Given the description of an element on the screen output the (x, y) to click on. 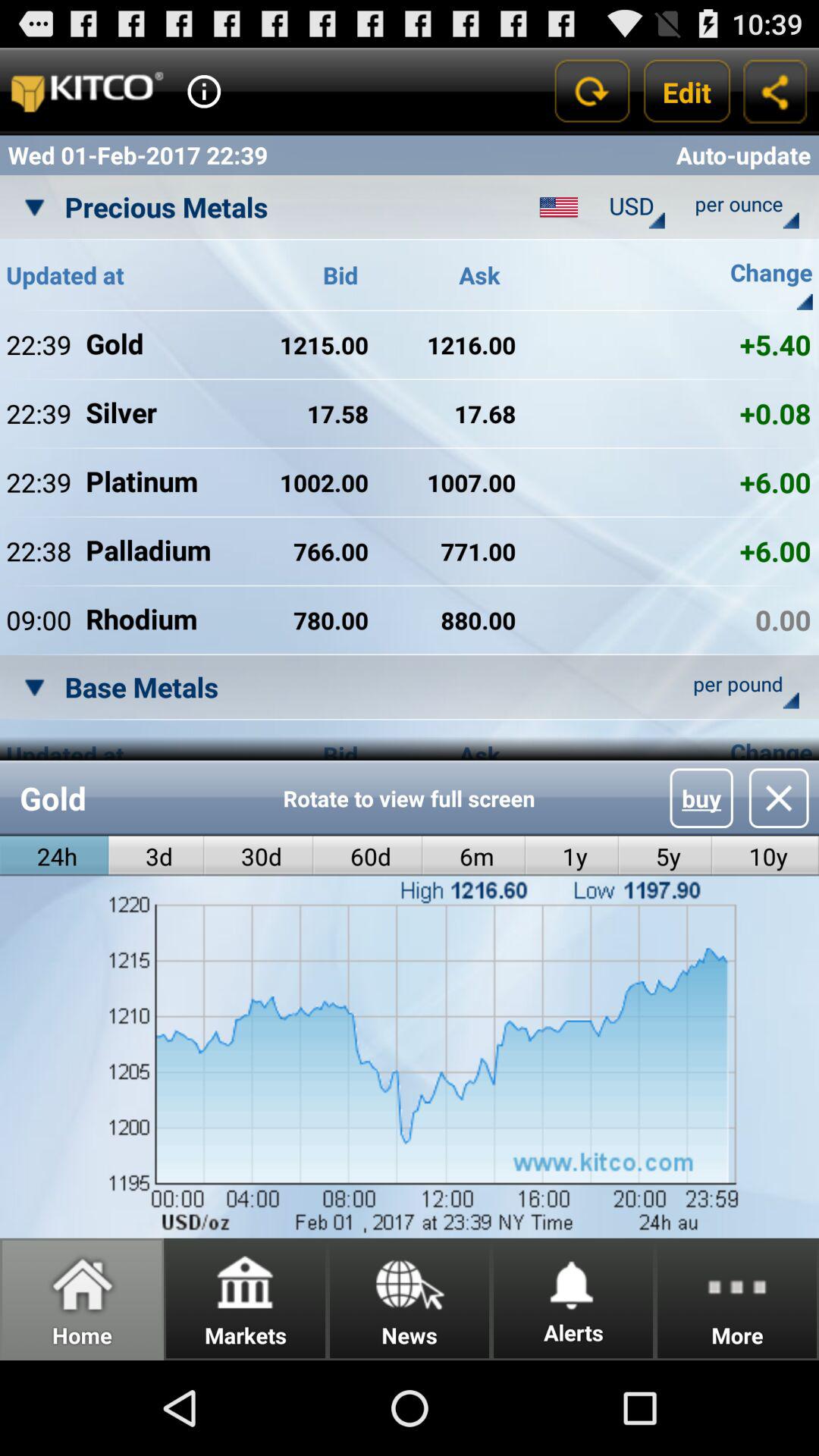
close window (778, 798)
